Given the description of an element on the screen output the (x, y) to click on. 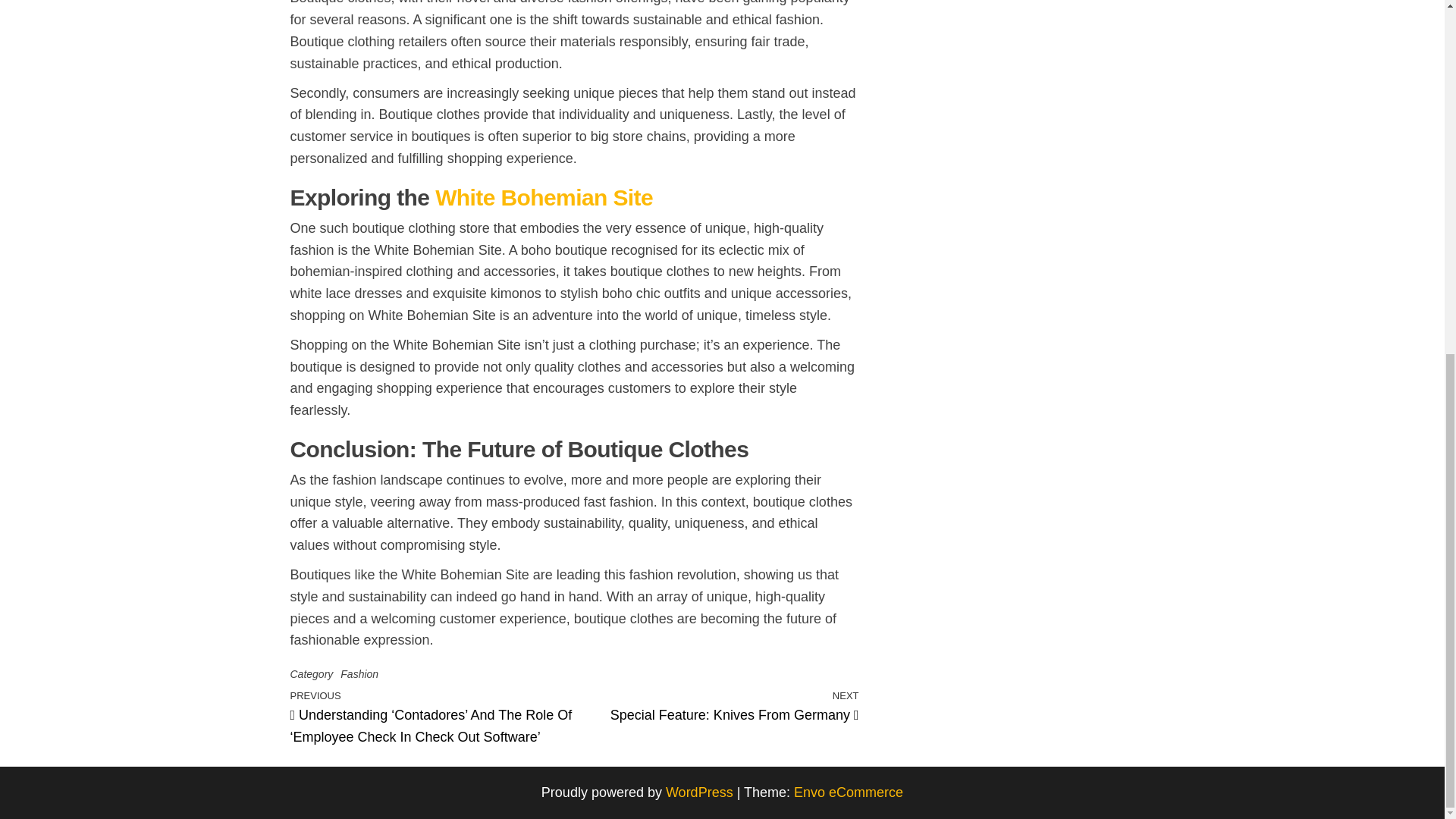
Envo eCommerce (847, 792)
Fashion (359, 674)
White Bohemian Site (717, 705)
WordPress (543, 197)
